Given the description of an element on the screen output the (x, y) to click on. 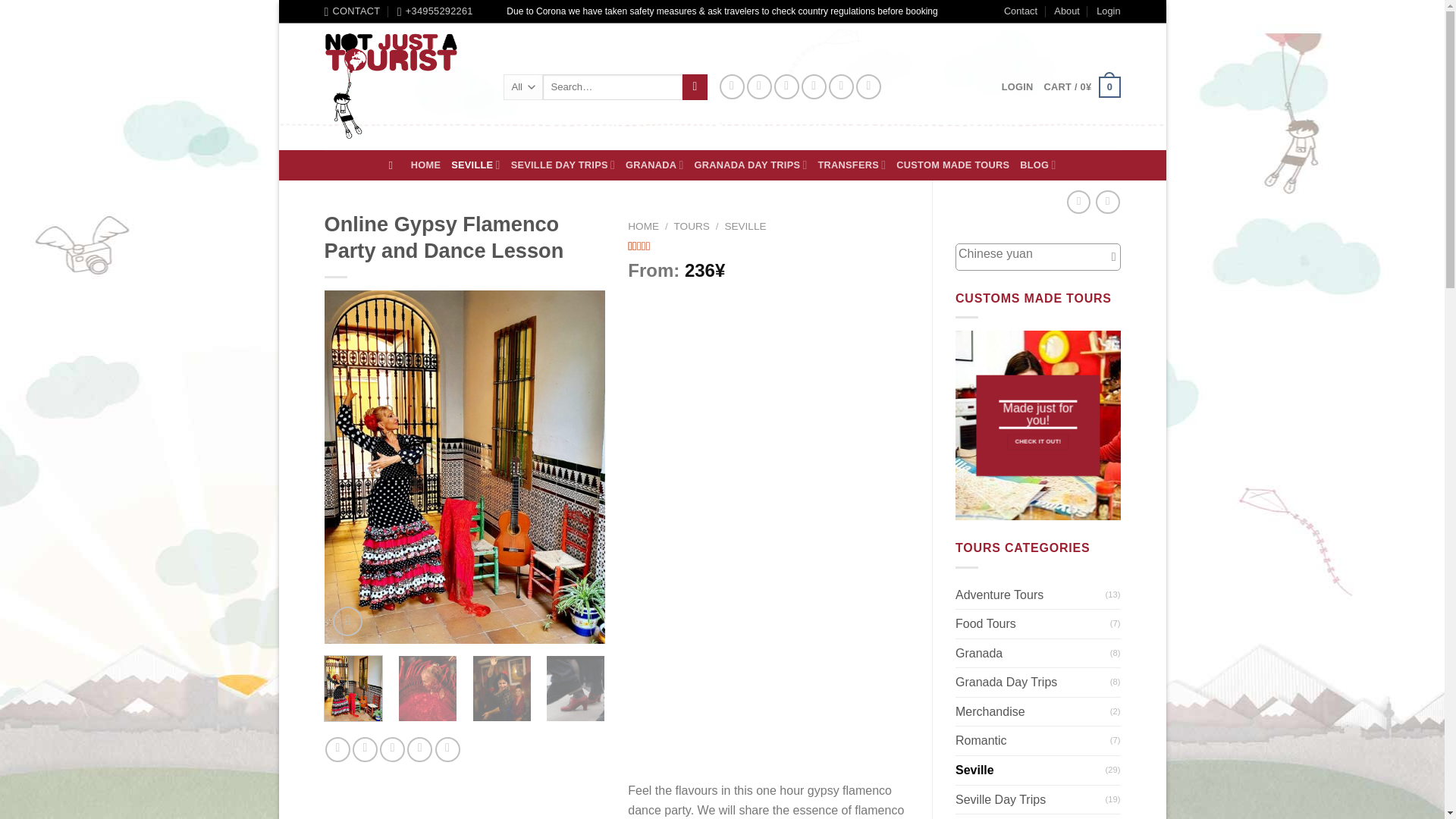
CONTACT (352, 11)
HOME (425, 165)
SEVILLE (475, 164)
Not Just a Tourist - Seville Tours (402, 86)
